Given the description of an element on the screen output the (x, y) to click on. 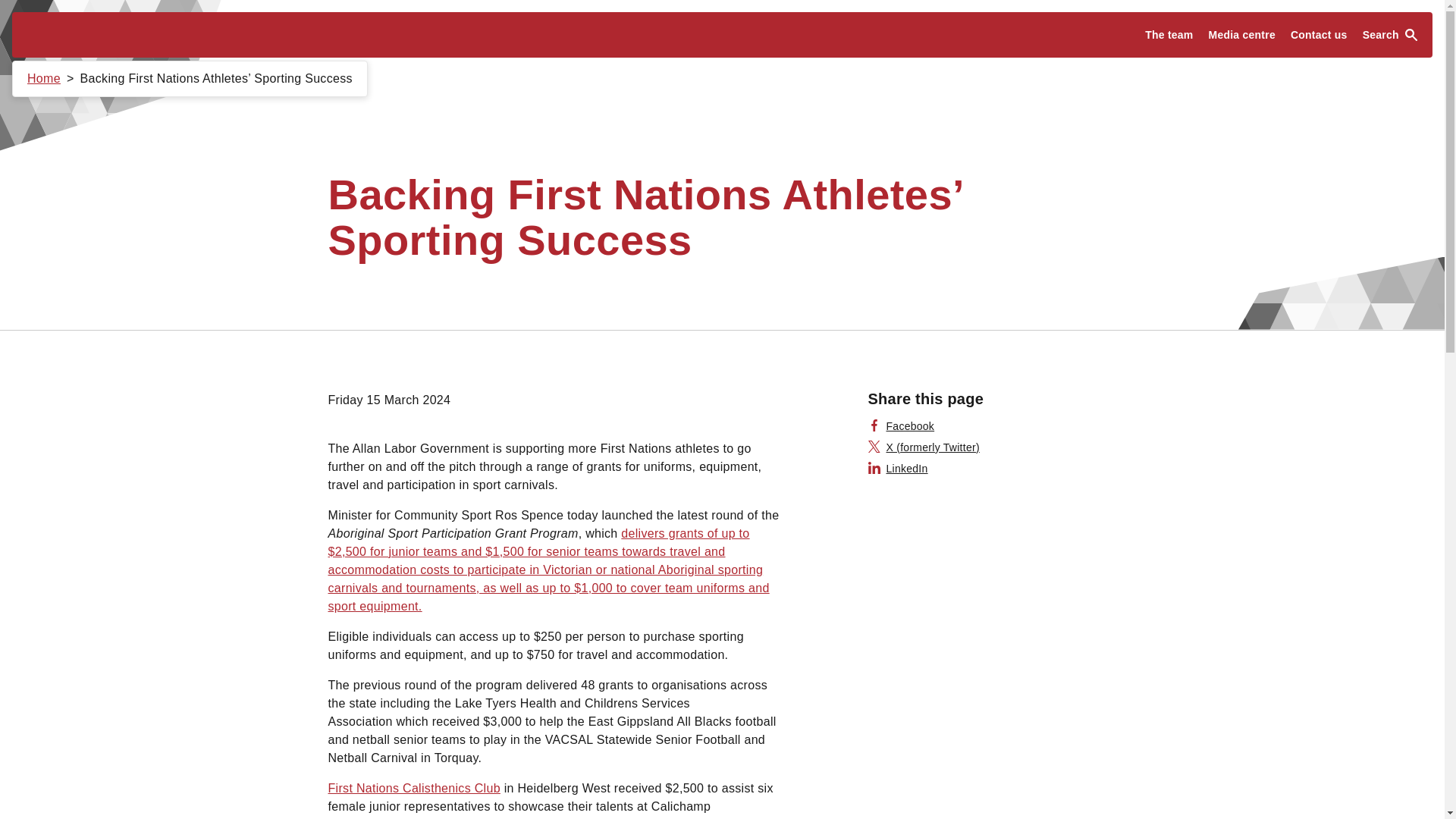
First Nations Calisthenics Club (413, 787)
Home (44, 78)
LinkedIn (897, 468)
Facebook (900, 426)
Media centre (1241, 34)
Contact us (1318, 34)
The team (1168, 34)
